Given the description of an element on the screen output the (x, y) to click on. 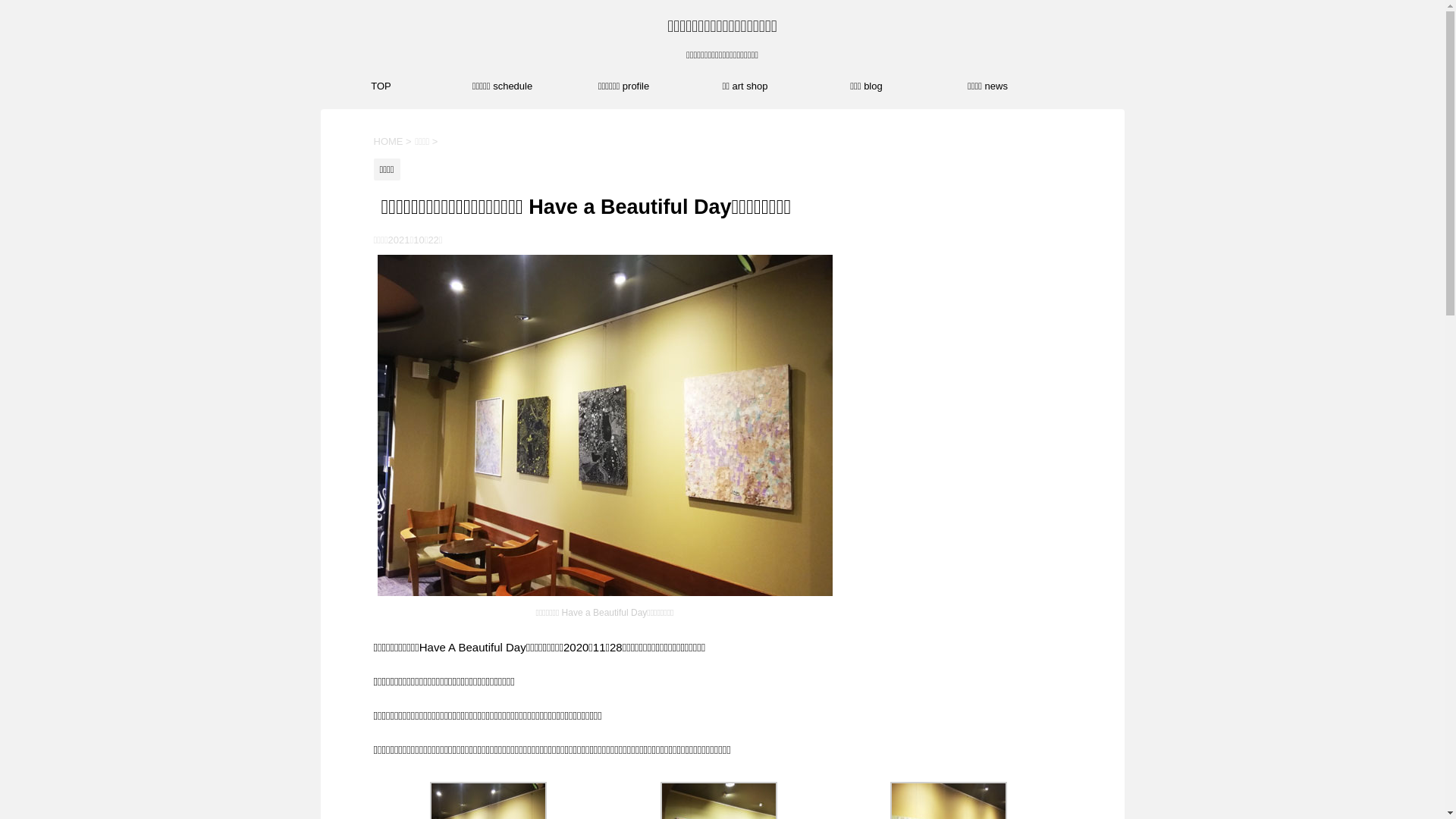
TOP Element type: text (380, 86)
HOME Element type: text (387, 141)
